Given the description of an element on the screen output the (x, y) to click on. 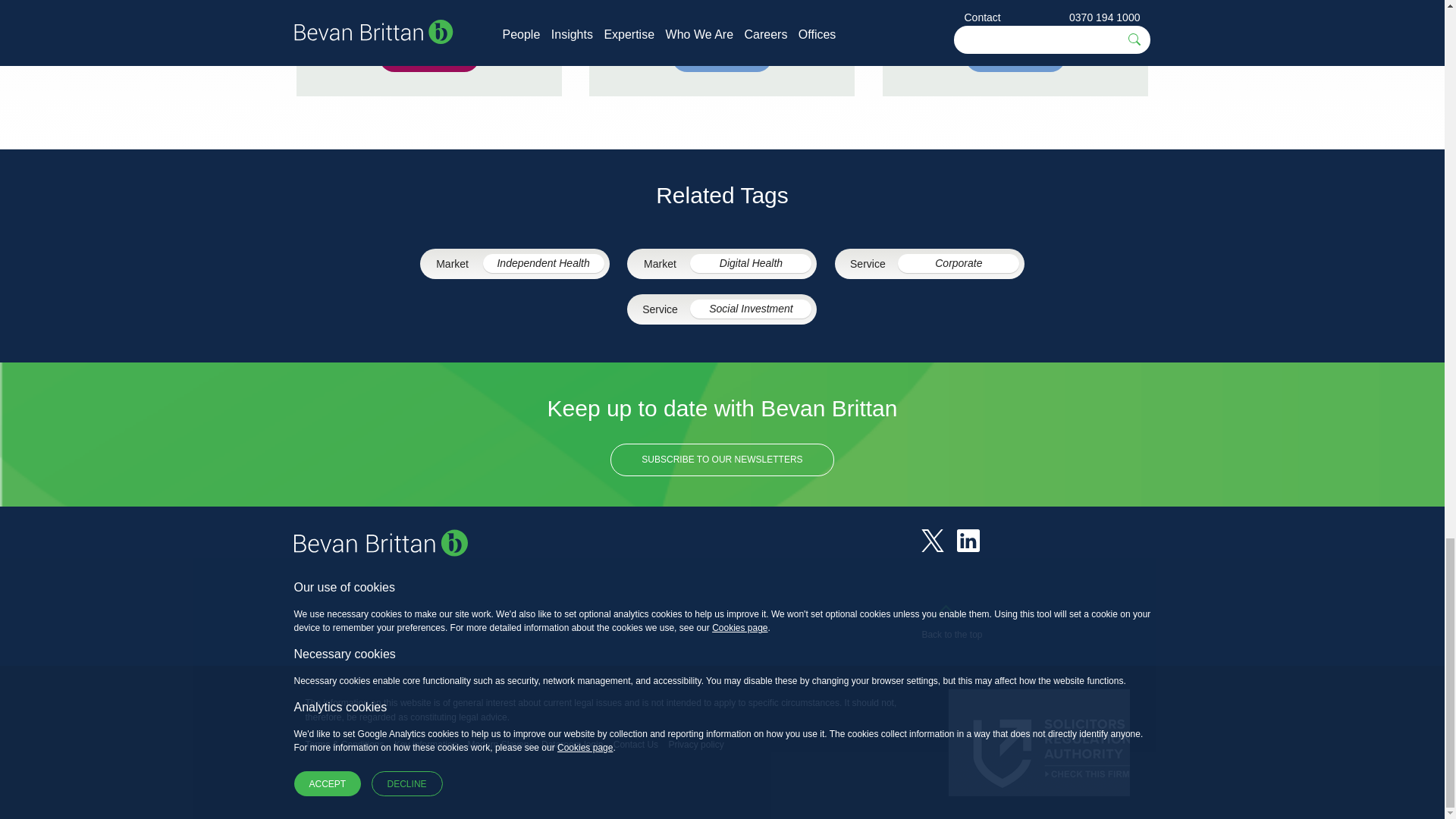
Digital Health (750, 262)
Independent Health (543, 262)
Social Investment (750, 308)
Corporate (958, 262)
Back to the top (951, 625)
